Given the description of an element on the screen output the (x, y) to click on. 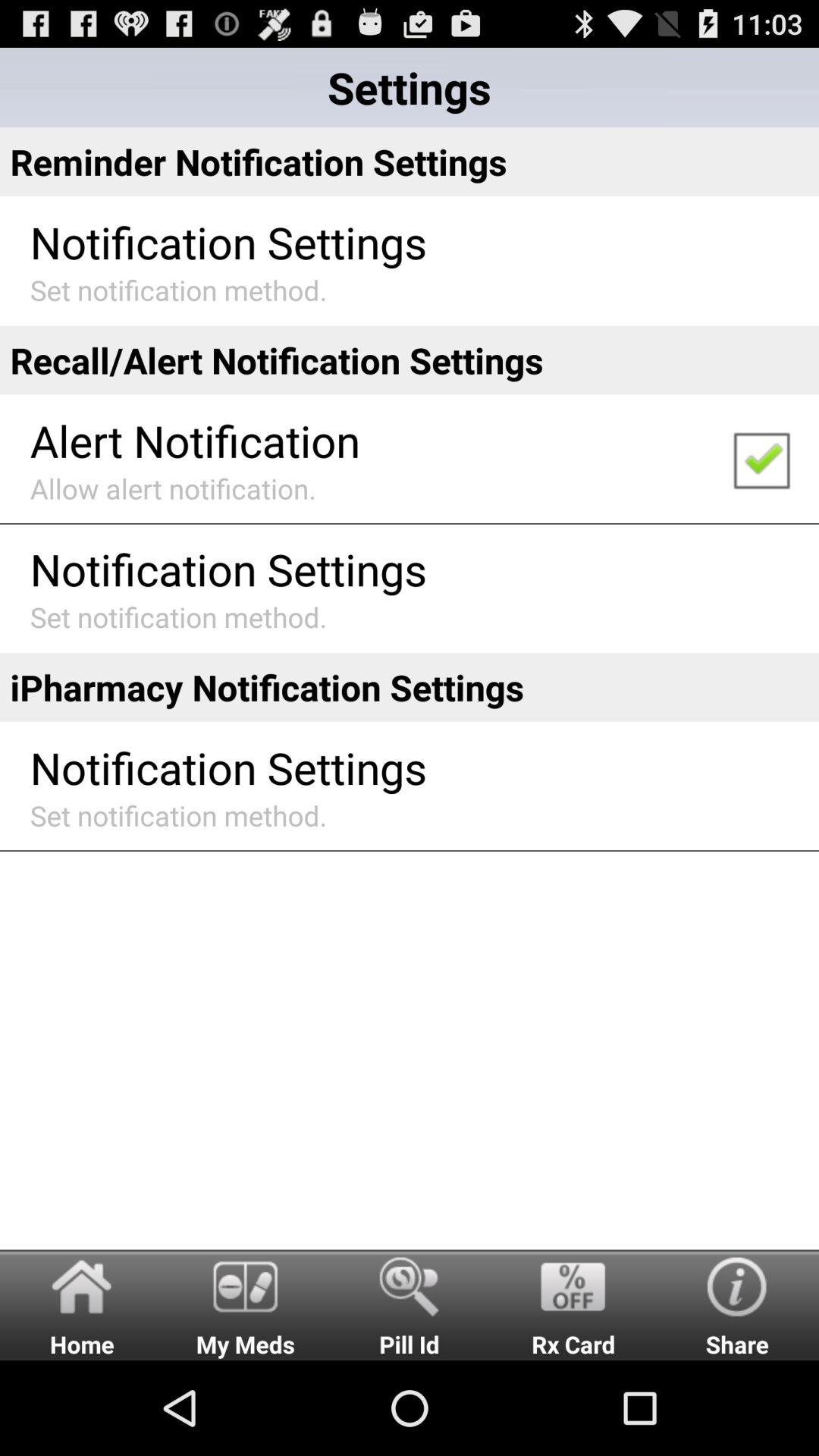
scroll to home item (81, 1304)
